Given the description of an element on the screen output the (x, y) to click on. 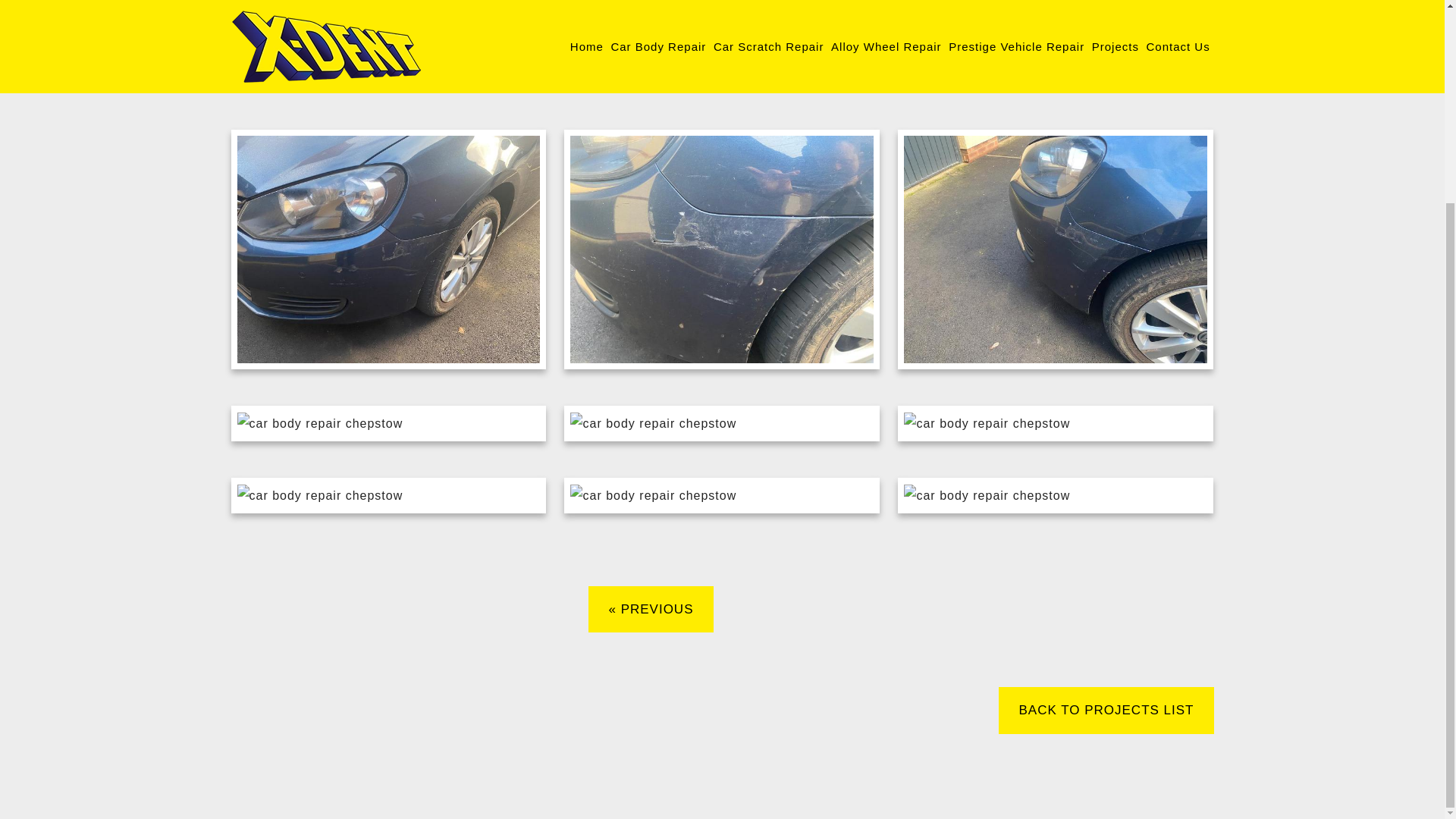
Keyed Car Scratch Repair Bristol (650, 609)
mobile car body repair services (576, 12)
BACK TO PROJECTS LIST (1105, 710)
